Given the description of an element on the screen output the (x, y) to click on. 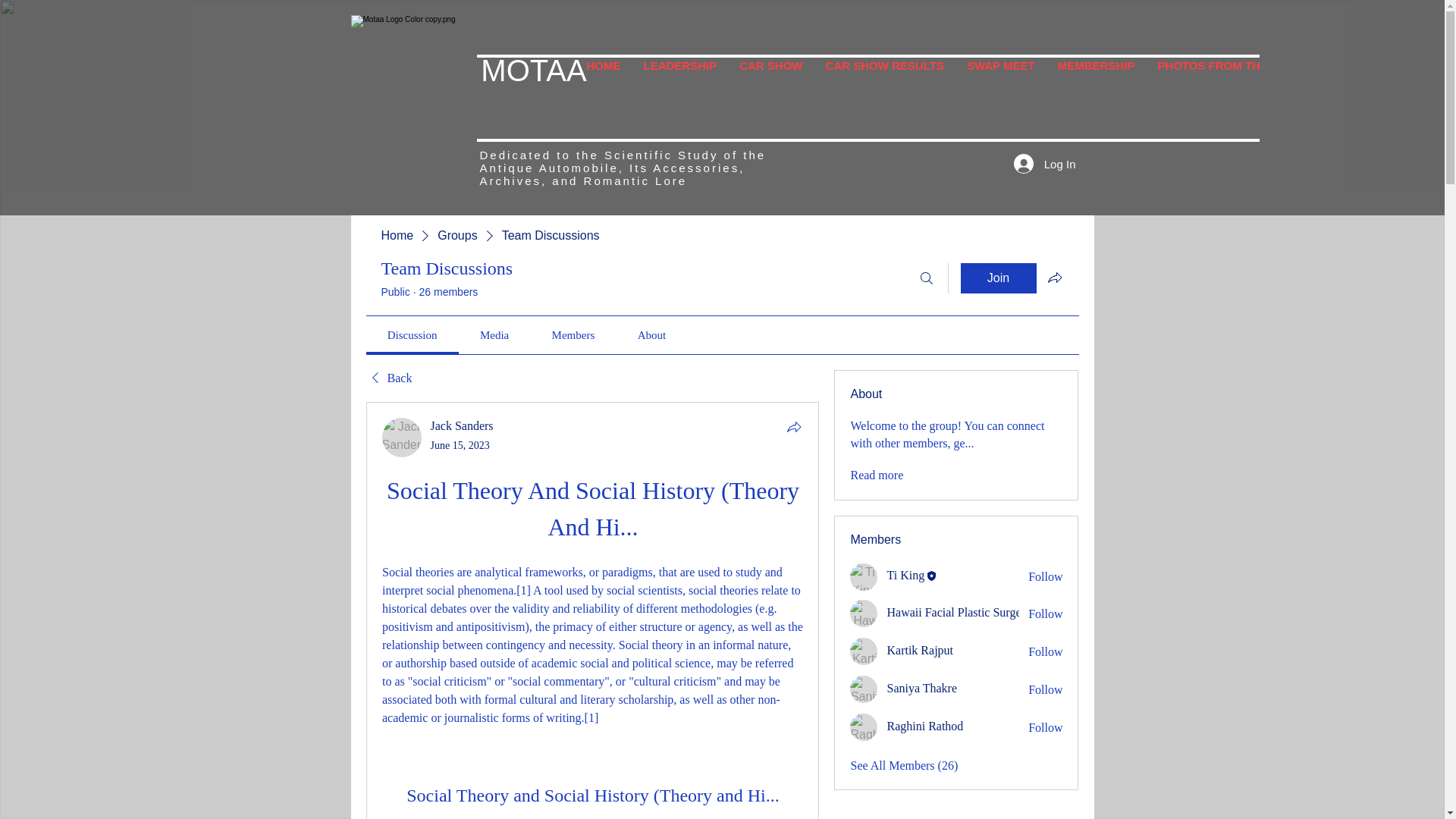
CAR SHOW RESULTS (884, 81)
MEMBERSHIP (1096, 81)
Back (388, 378)
Follow (1044, 576)
Kartik Rajput (863, 651)
Ti King (863, 576)
PHOTOS FROM THE PAST (1228, 81)
Log In (1044, 163)
CAR SHOW (770, 81)
SWAP MEET (1000, 81)
Groups (457, 235)
Join (997, 277)
Read more (876, 475)
Saniya Thakre (863, 688)
Follow (1044, 651)
